Given the description of an element on the screen output the (x, y) to click on. 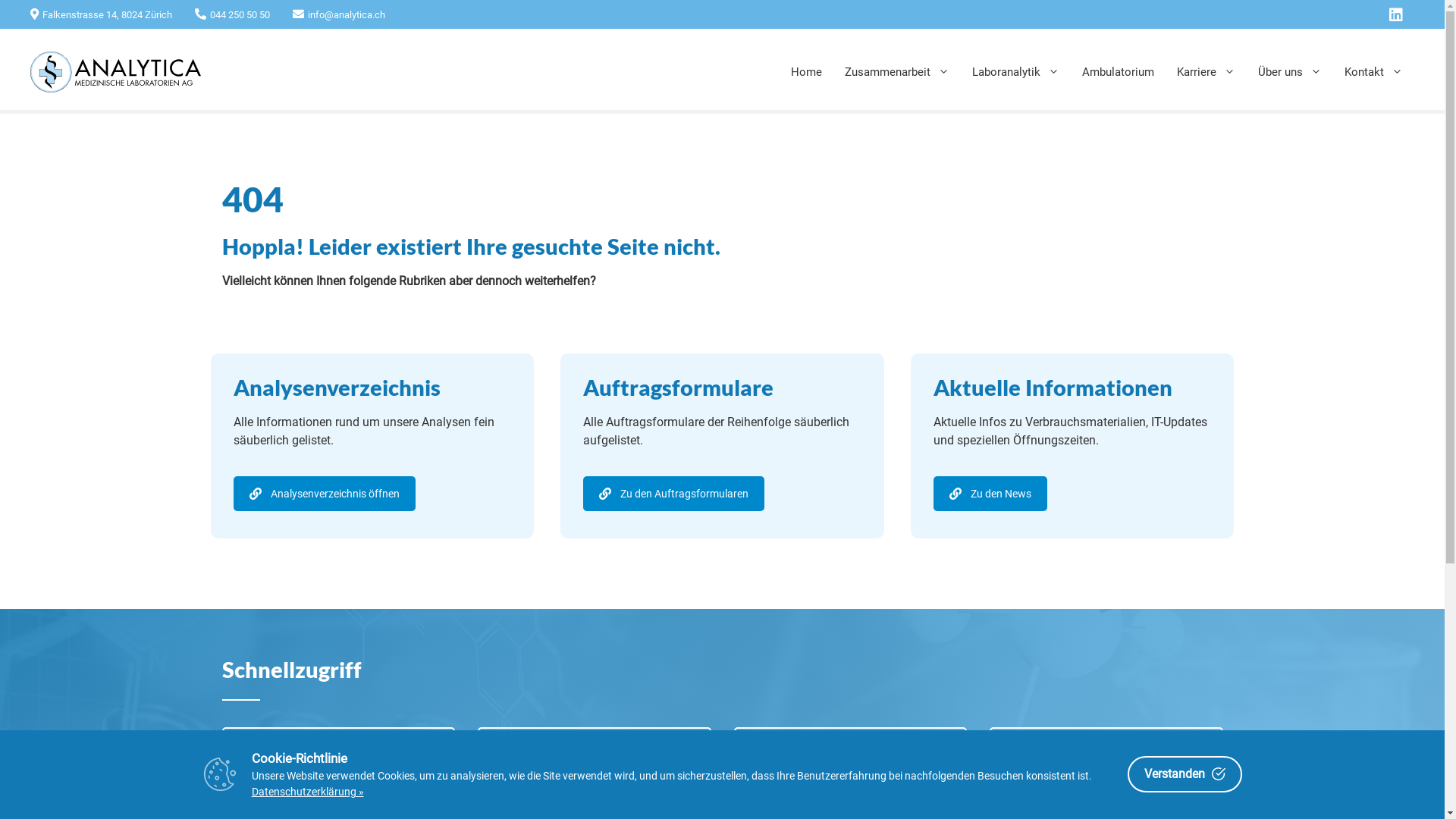
Zu den News Element type: text (990, 493)
044 250 50 50 Element type: text (231, 14)
Laboranalytik Element type: text (1015, 71)
Befundabfrage Element type: text (594, 748)
Kontakt Element type: text (1373, 71)
Ambulatorium Element type: text (1117, 71)
Karriere Element type: text (1205, 71)
Zu den Auftragsformularen Element type: text (673, 493)
info@analytica.ch Element type: text (338, 14)
Analysenverzeichnis Element type: text (338, 748)
Home Element type: text (806, 71)
Verstanden Element type: text (1183, 774)
Weiterbildung Element type: text (850, 748)
Zusammenarbeit Element type: text (896, 71)
